Given the description of an element on the screen output the (x, y) to click on. 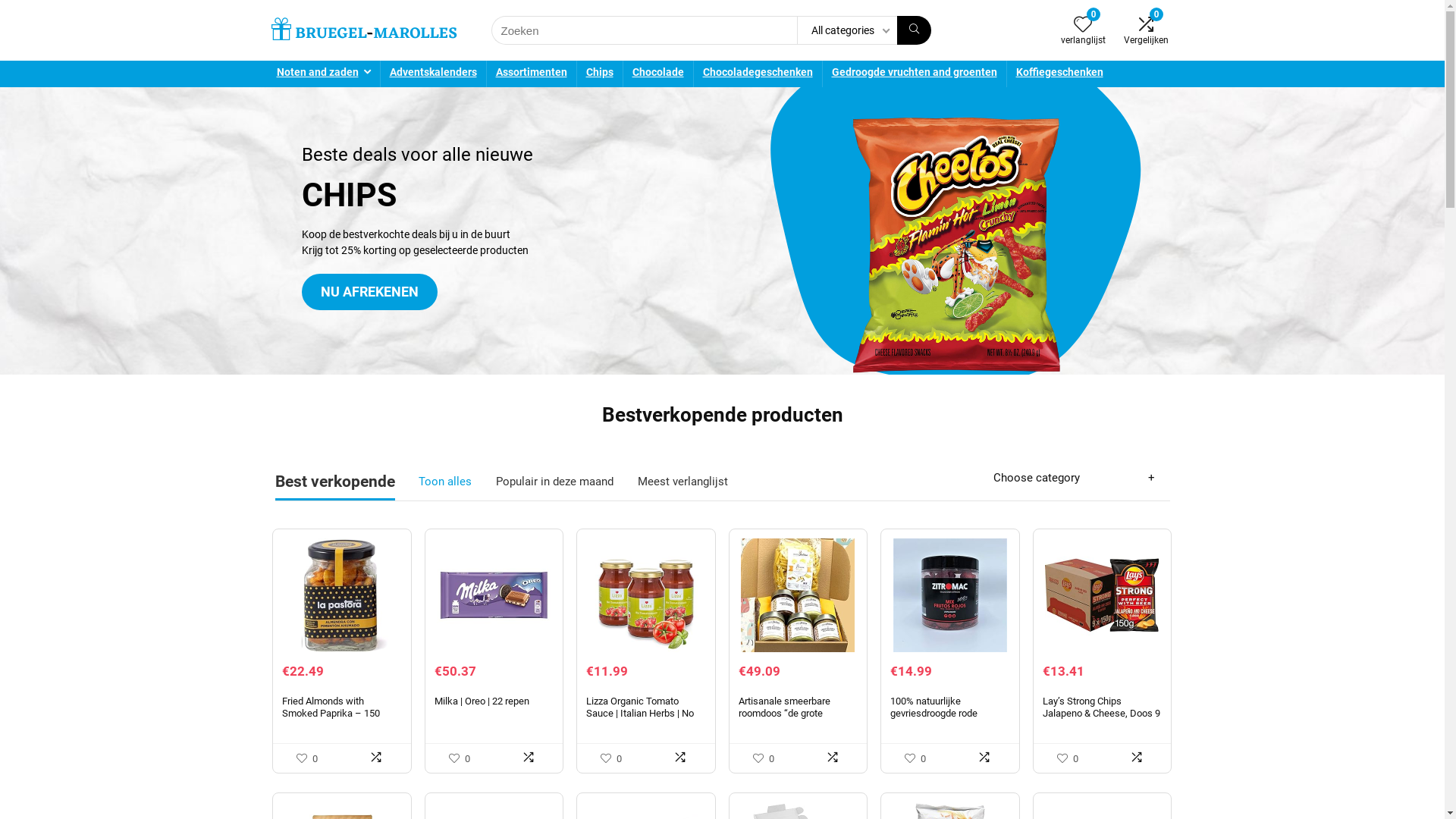
Chips Element type: text (598, 73)
Assortimenten Element type: text (531, 73)
NU AFREKENEN Element type: text (369, 291)
Chocoladegeschenken Element type: text (757, 73)
0 Element type: text (1082, 25)
Adventskalenders Element type: text (433, 73)
Milka | Oreo | 22 repen Element type: text (481, 700)
Gedroogde vruchten and groenten Element type: text (913, 73)
Koffiegeschenken Element type: text (1059, 73)
Noten and zaden Element type: text (322, 73)
Chocolade Element type: text (658, 73)
